Given the description of an element on the screen output the (x, y) to click on. 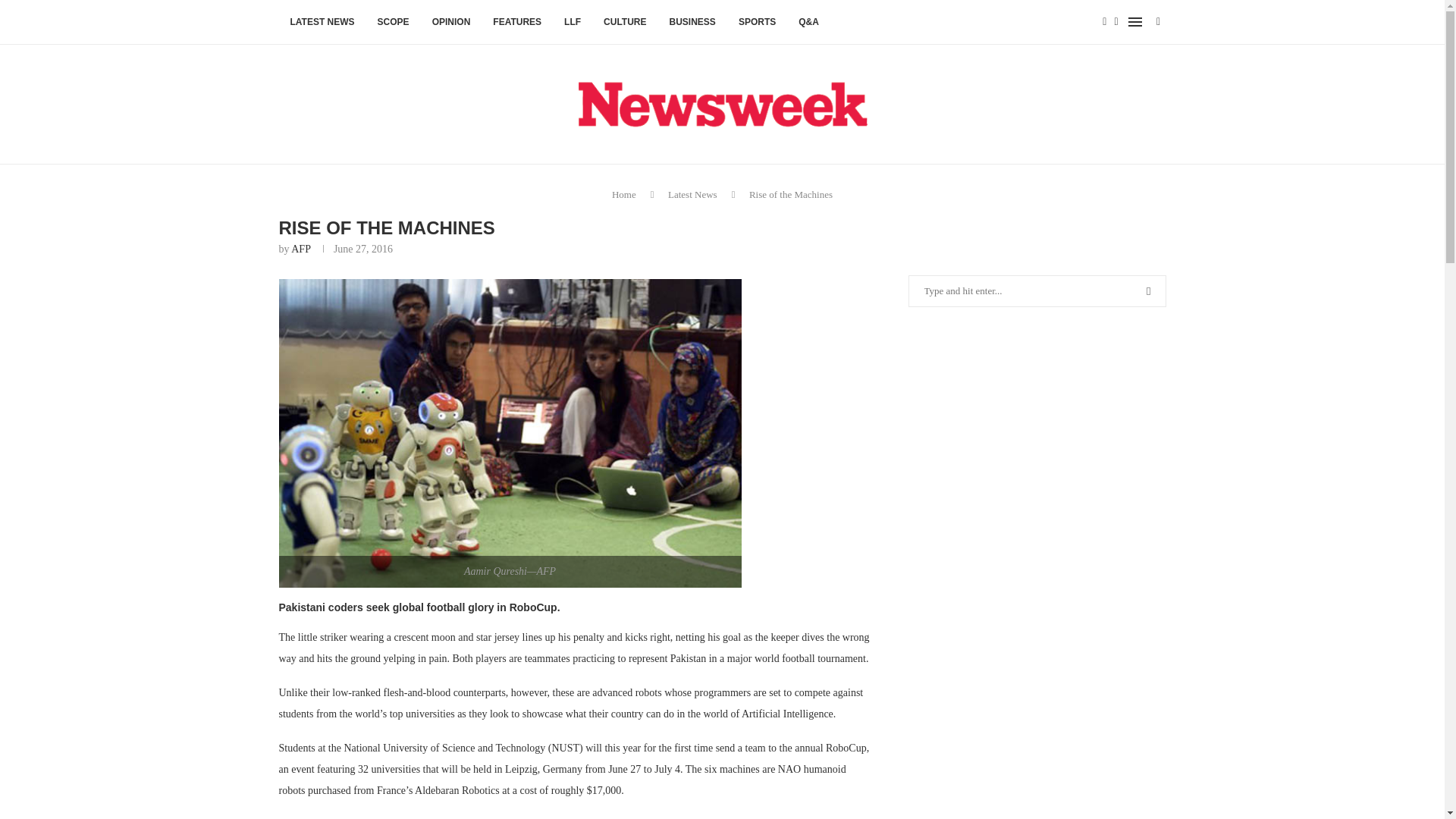
FEATURES (517, 22)
OPINION (450, 22)
SPORTS (756, 22)
Home (623, 194)
AFP (300, 248)
CULTURE (625, 22)
BUSINESS (692, 22)
Latest News (692, 194)
SCOPE (393, 22)
LATEST NEWS (322, 22)
